Given the description of an element on the screen output the (x, y) to click on. 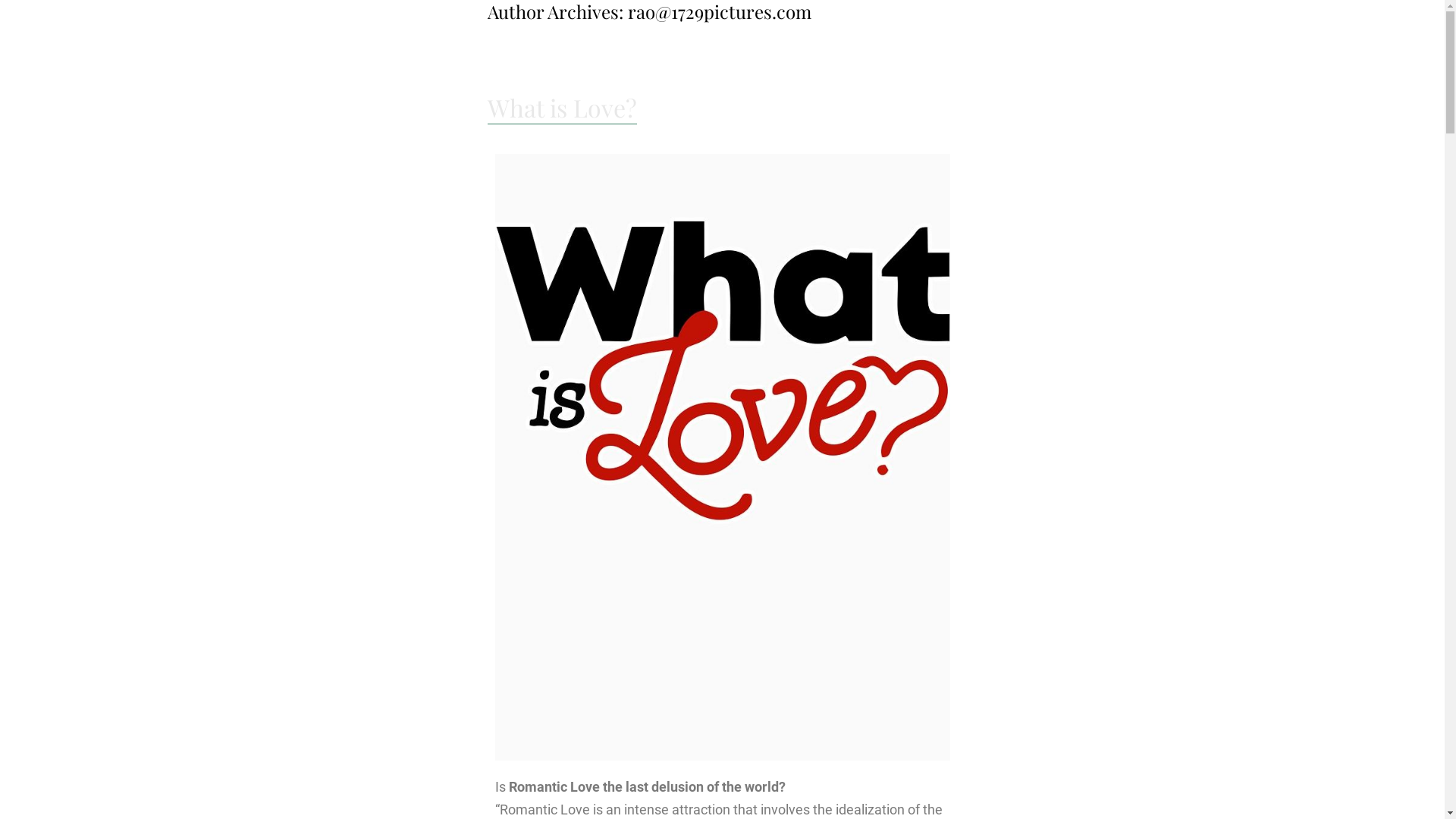
What is Love? Element type: text (561, 107)
